Given the description of an element on the screen output the (x, y) to click on. 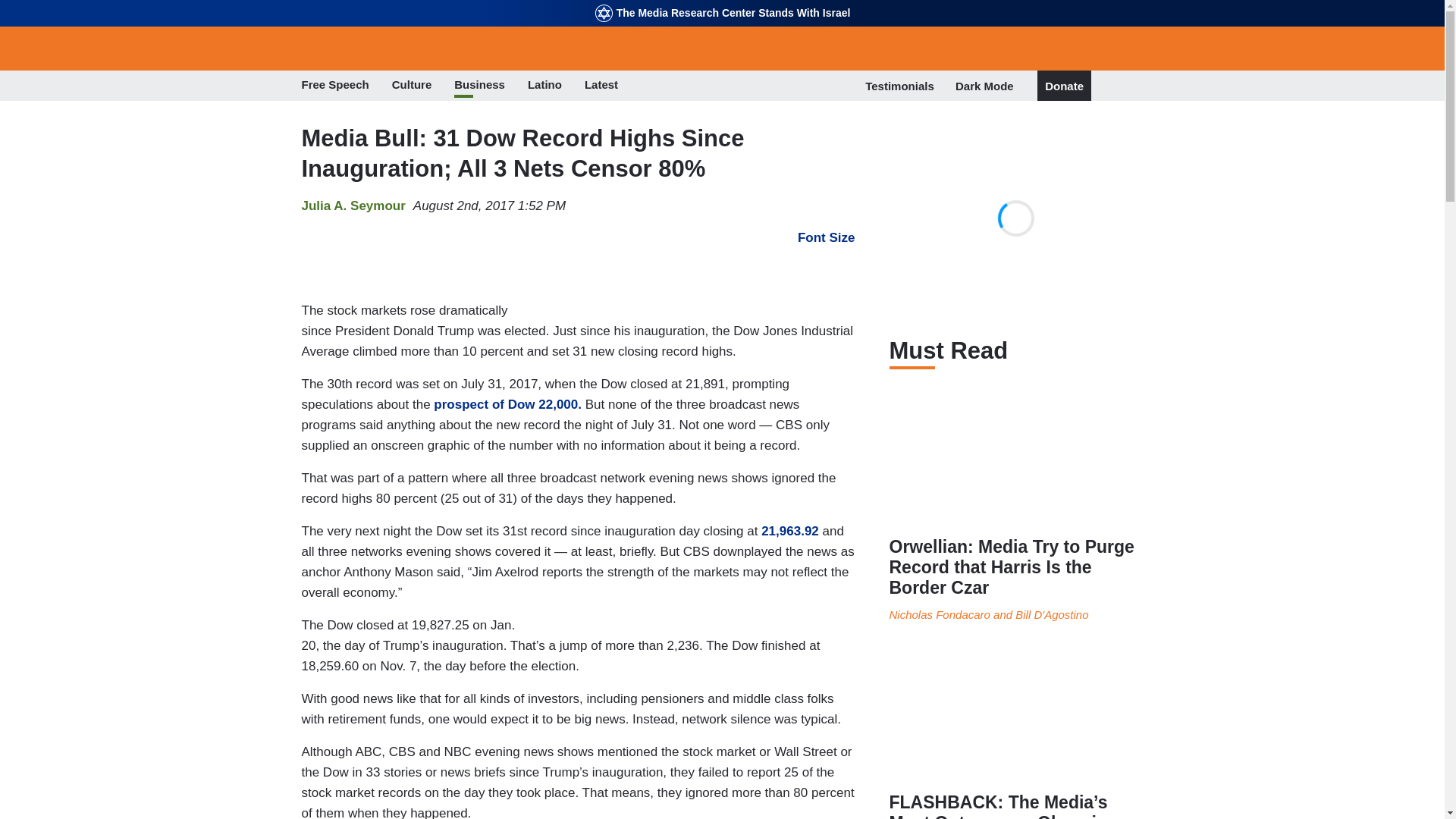
Testimonials (899, 85)
Culture (411, 85)
Business (479, 85)
Latino (544, 85)
Donate (1064, 86)
Free Speech (335, 85)
Skip to main content (721, 1)
Dark Mode (984, 85)
Latest (601, 85)
